Given the description of an element on the screen output the (x, y) to click on. 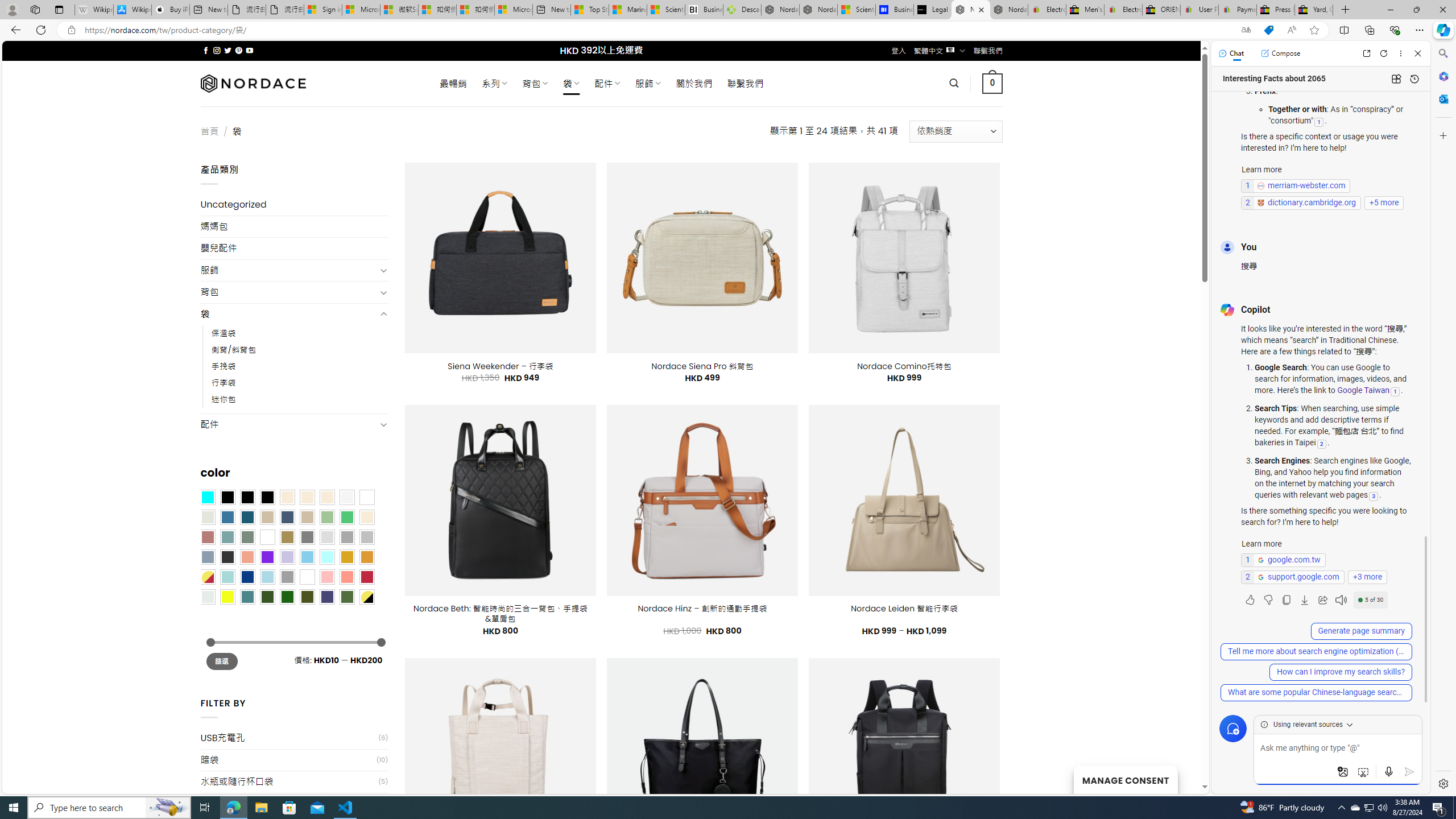
Yard, Garden & Outdoor Living (1314, 9)
User Privacy Notice | eBay (1198, 9)
